Given the description of an element on the screen output the (x, y) to click on. 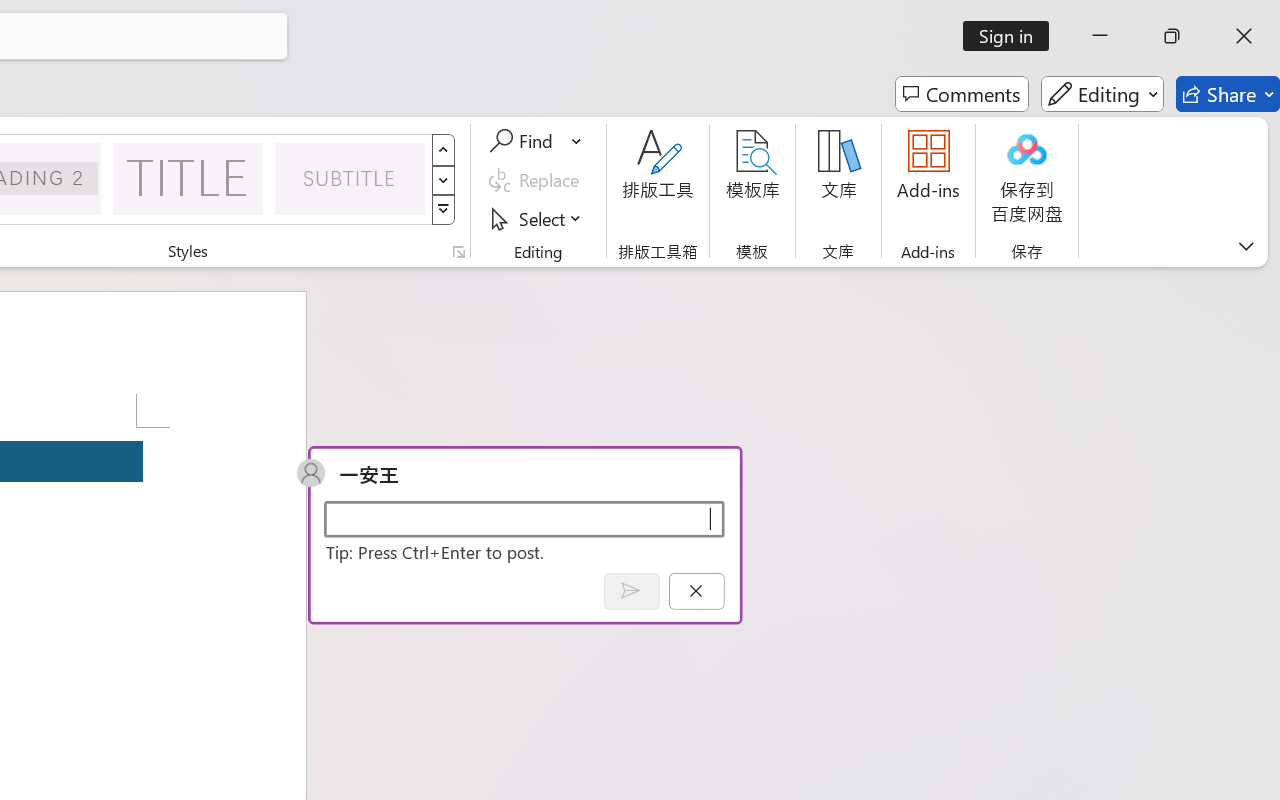
Start a conversation (524, 518)
Editing (1101, 94)
Title (187, 178)
Post comment (Ctrl + Enter) (630, 590)
